Given the description of an element on the screen output the (x, y) to click on. 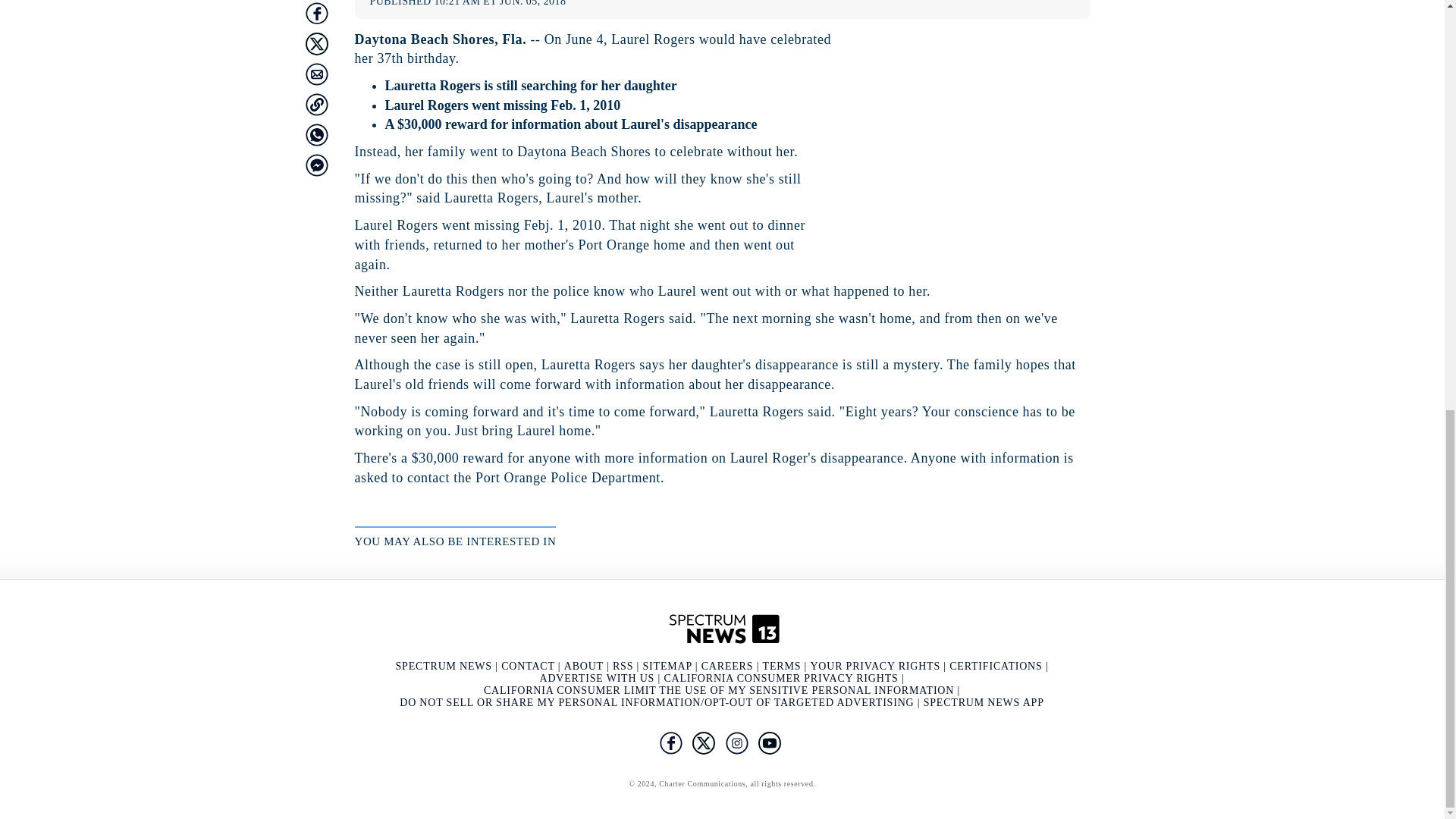
Share with Whatsapp (315, 133)
Copy article link (315, 103)
Share with Twitter (315, 42)
Share with Email (315, 73)
Share with Facebook (315, 12)
Share with Facebook Messenger (315, 164)
